Given the description of an element on the screen output the (x, y) to click on. 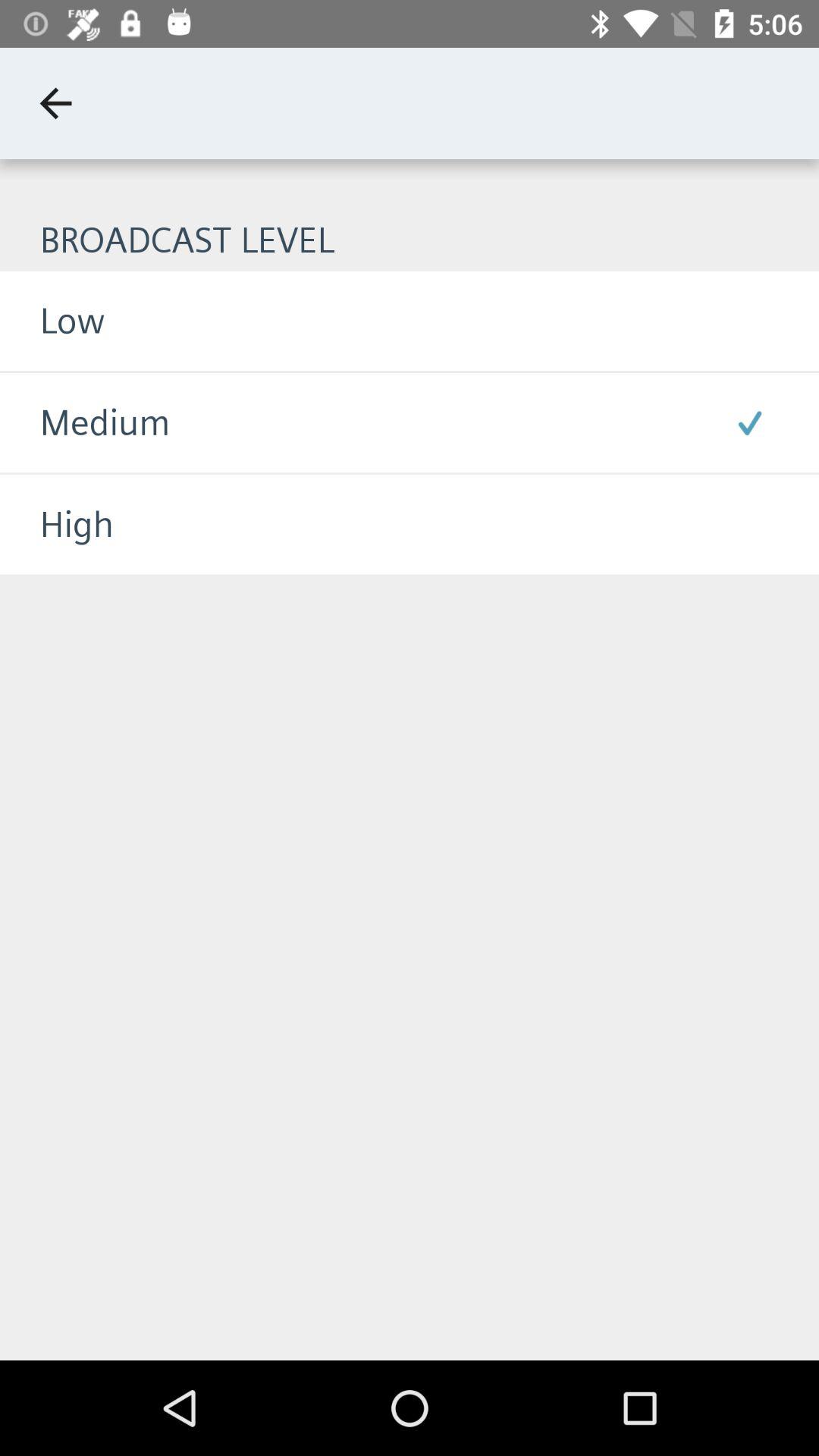
open item next to medium item (749, 422)
